Given the description of an element on the screen output the (x, y) to click on. 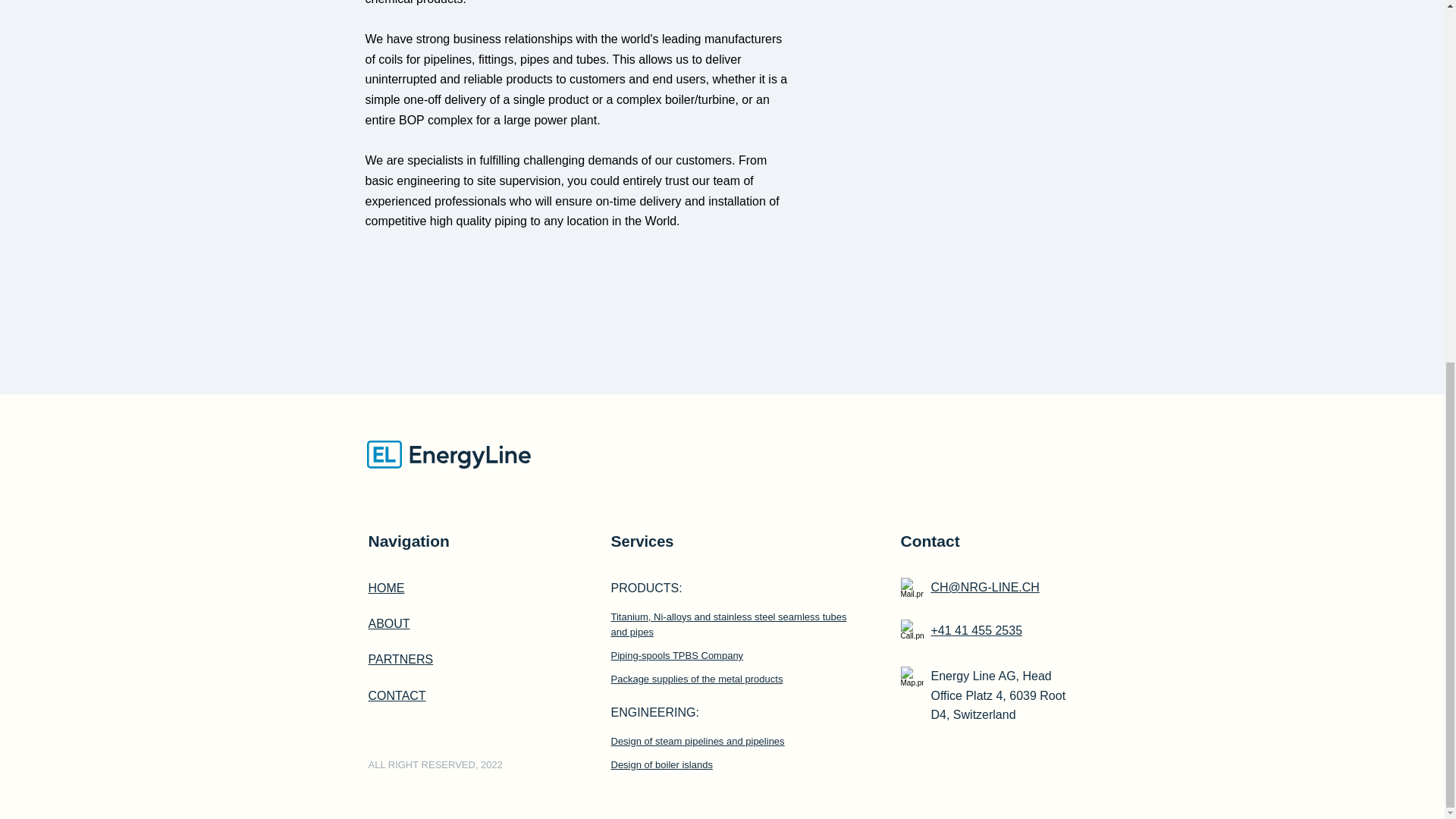
CONTACT (397, 695)
Piping-spools TPBS Company (677, 655)
Package supplies of the metal products (697, 678)
Design of steam pipelines and pipelines (697, 740)
PARTNERS (400, 658)
Design of boiler islands (662, 764)
ABOUT (389, 623)
HOME (386, 587)
